Given the description of an element on the screen output the (x, y) to click on. 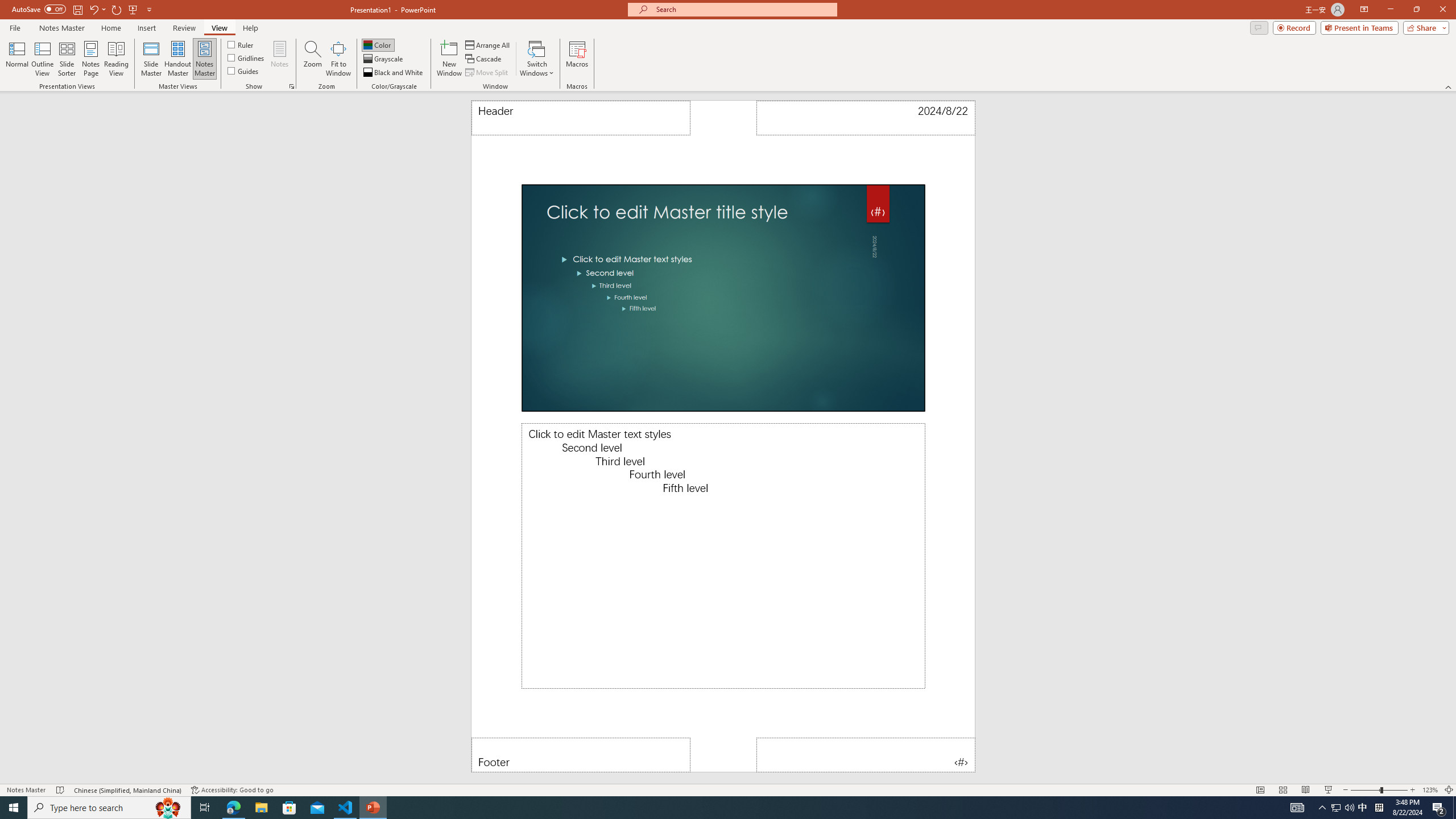
Accessibility Checker Accessibility: Good to go (232, 790)
Notes Page (90, 58)
Zoom 123% (1430, 790)
Footer (580, 754)
Zoom... (312, 58)
